Given the description of an element on the screen output the (x, y) to click on. 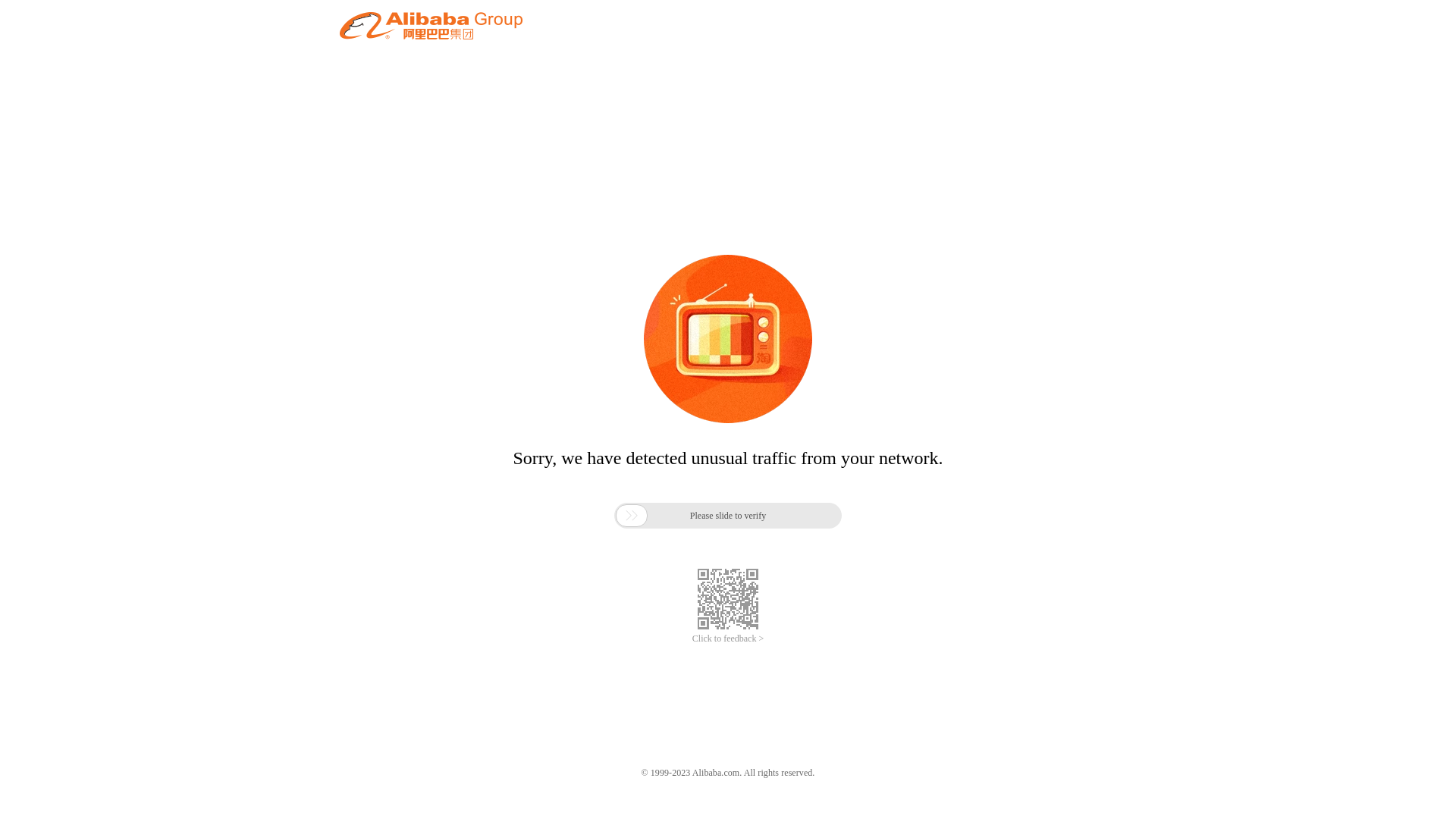
Click to feedback > Element type: text (727, 638)
